Given the description of an element on the screen output the (x, y) to click on. 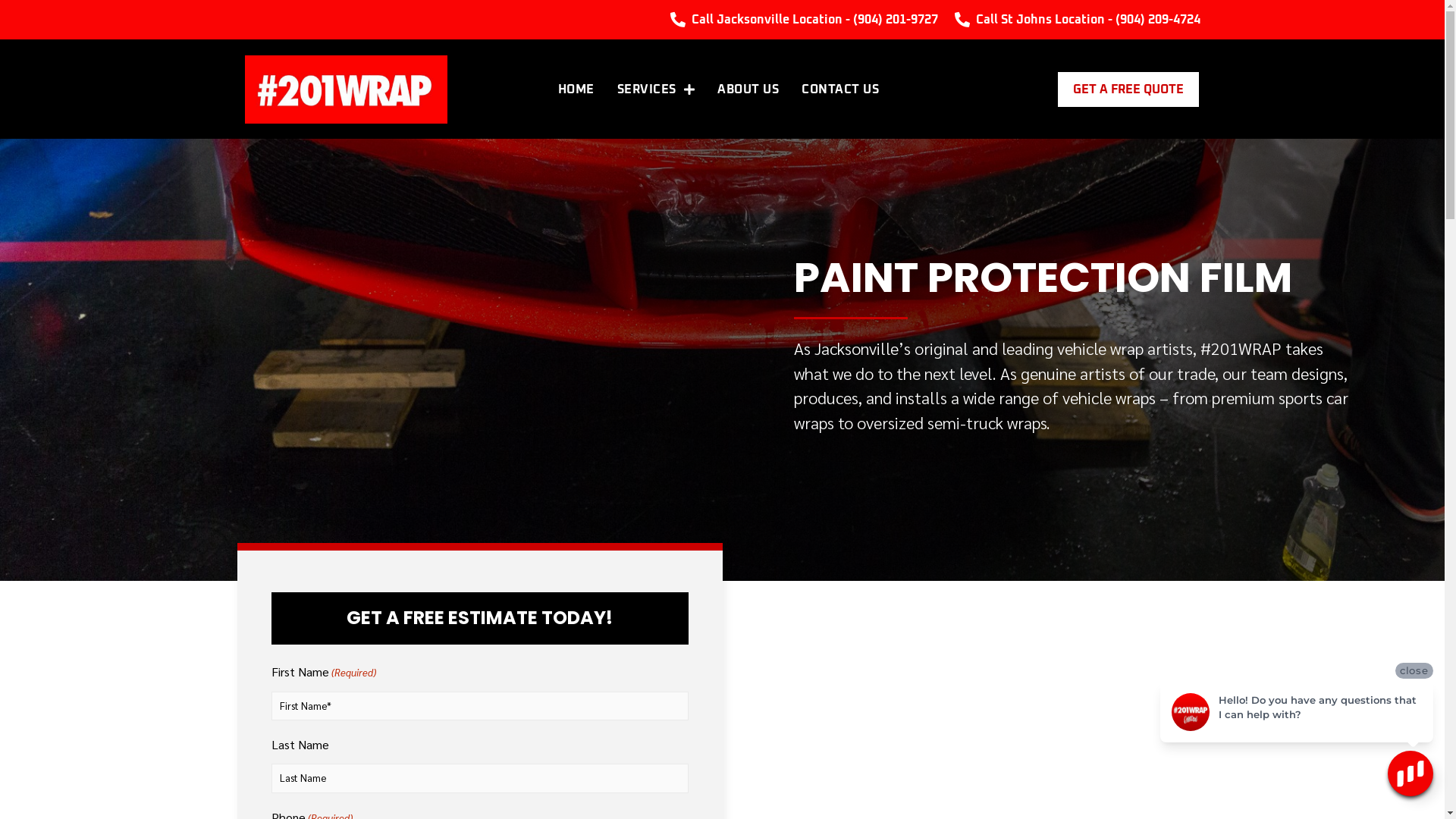
Call Jacksonville Location - (904) 201-9727 Element type: text (803, 19)
ABOUT US Element type: text (747, 89)
GET A FREE QUOTE Element type: text (1127, 89)
SERVICES Element type: text (656, 89)
HOME Element type: text (576, 89)
Call St Johns Location - (904) 209-4724 Element type: text (1075, 19)
CONTACT US Element type: text (839, 89)
